Given the description of an element on the screen output the (x, y) to click on. 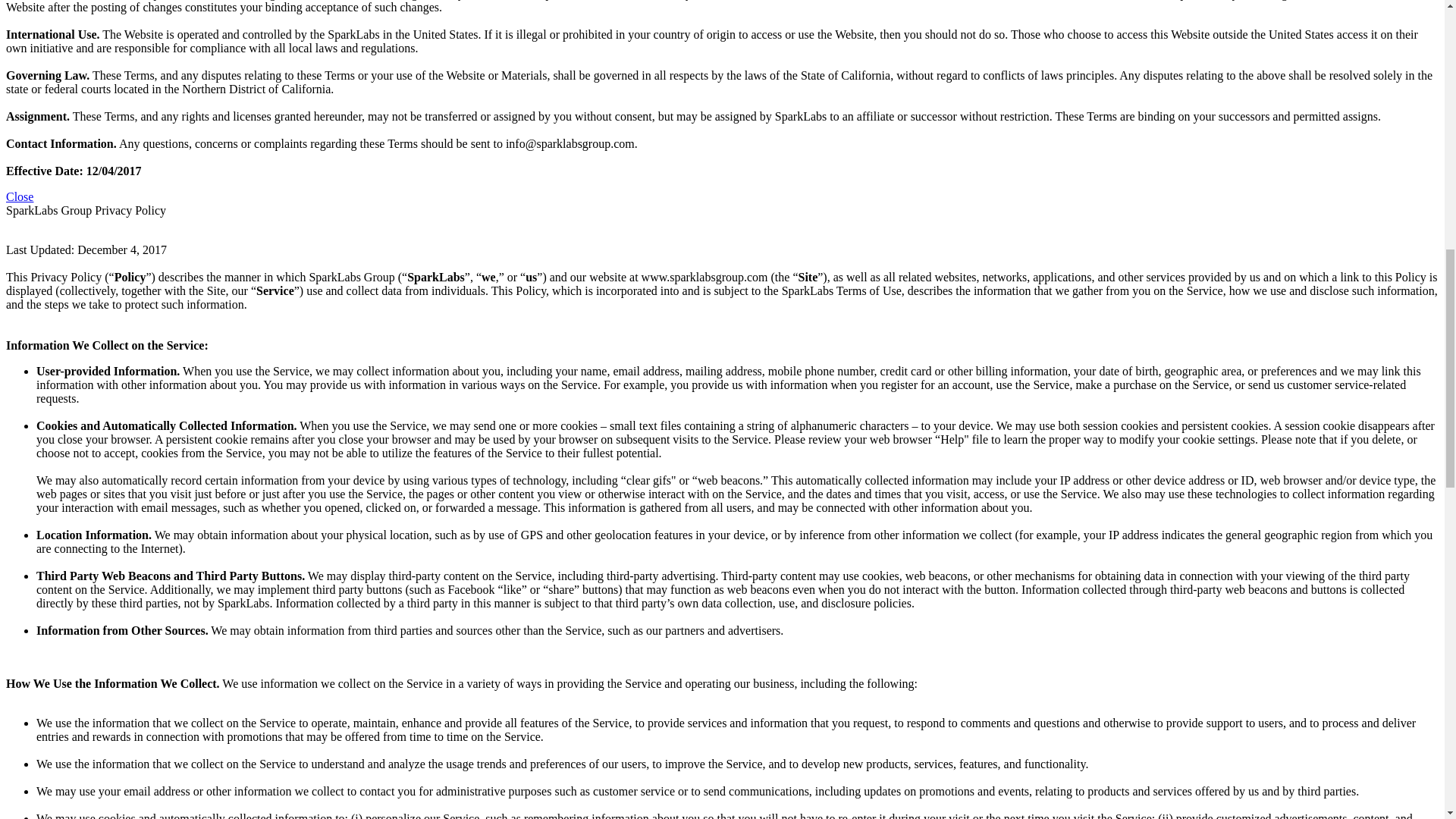
Close (19, 196)
